Given the description of an element on the screen output the (x, y) to click on. 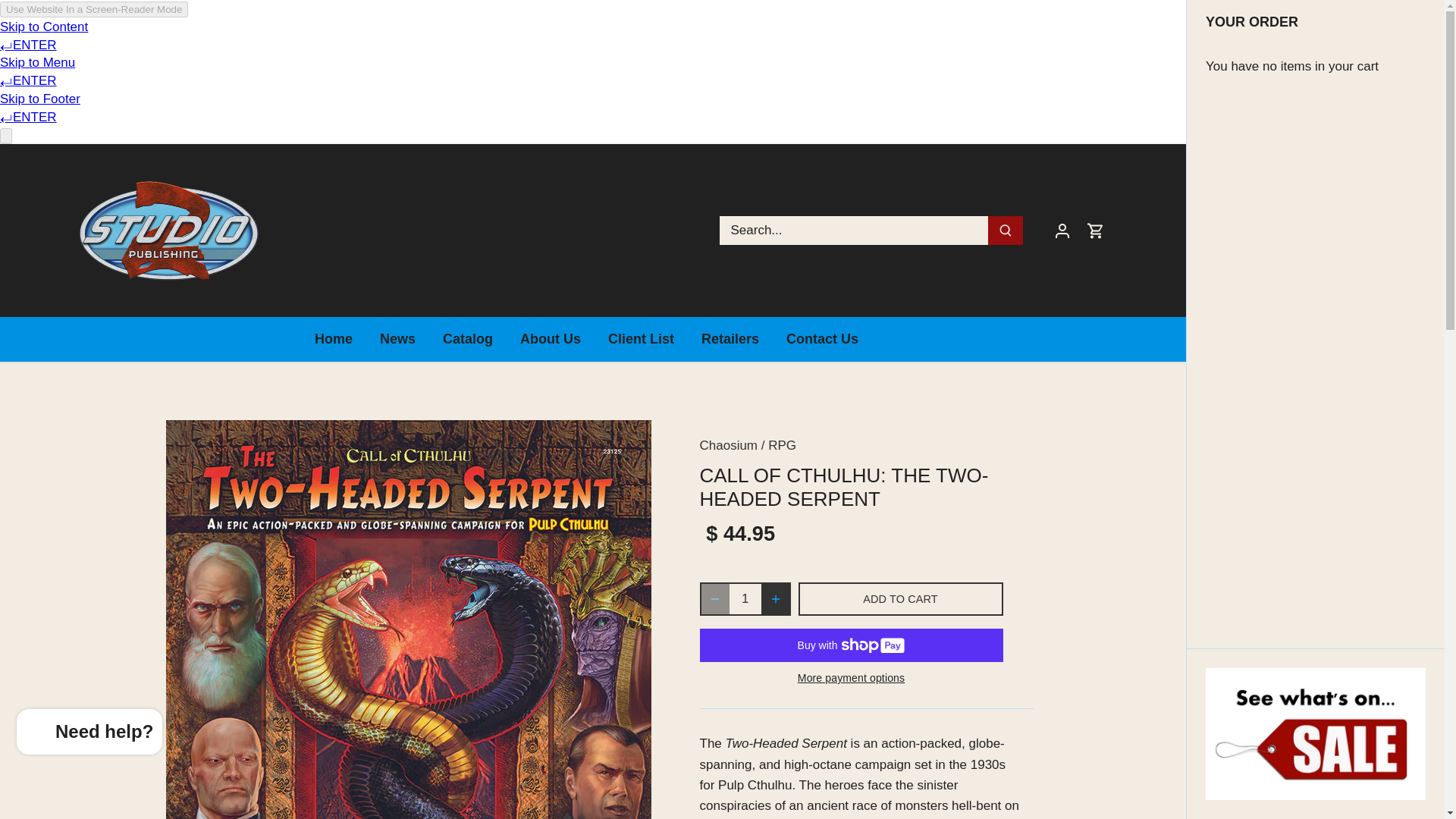
About Us (550, 338)
Catalog (467, 338)
Chaosium (727, 445)
Shopify online store chat (89, 733)
More payment options (850, 677)
Retailers (730, 338)
News (397, 338)
Client List (640, 338)
Contact Us (822, 338)
1 (745, 599)
